Given the description of an element on the screen output the (x, y) to click on. 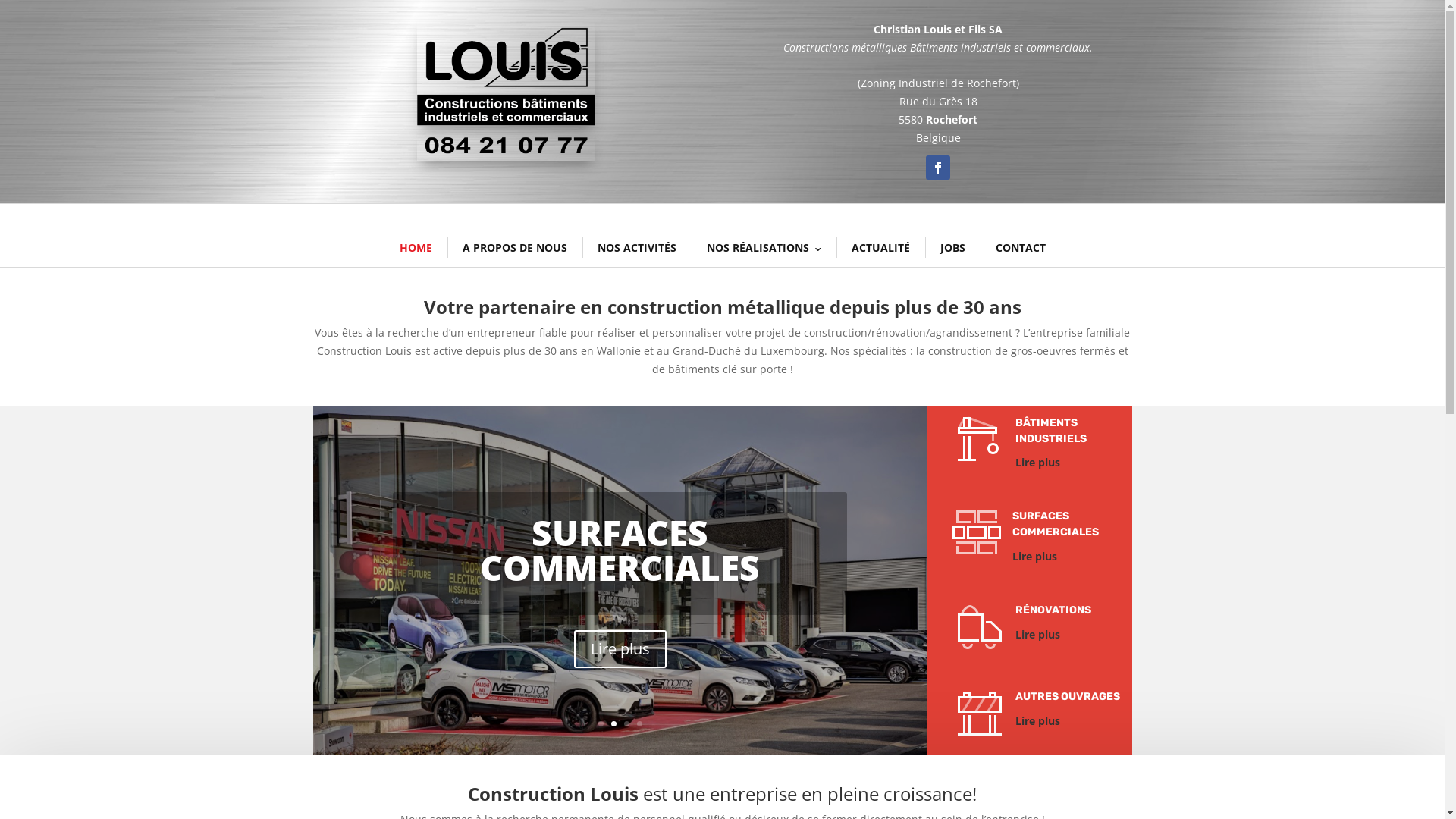
4 Element type: text (639, 723)
Suivez sur Facebook Element type: hover (937, 167)
2 Element type: text (613, 723)
1 Element type: text (599, 723)
AUTRES OUVRAGES Element type: text (1066, 696)
3 Element type: text (625, 723)
SURFACES COMMERCIALES Element type: text (619, 549)
JOBS Element type: text (952, 247)
A PROPOS DE NOUS Element type: text (514, 247)
HOME Element type: text (414, 247)
SURFACES COMMERCIALES Element type: text (1054, 523)
Lire plus Element type: text (1036, 720)
CONTACT Element type: text (1019, 247)
Lire plus Element type: text (619, 649)
Lire plus Element type: text (1036, 462)
Lire plus Element type: text (1033, 556)
Lire plus Element type: text (1036, 634)
